Given the description of an element on the screen output the (x, y) to click on. 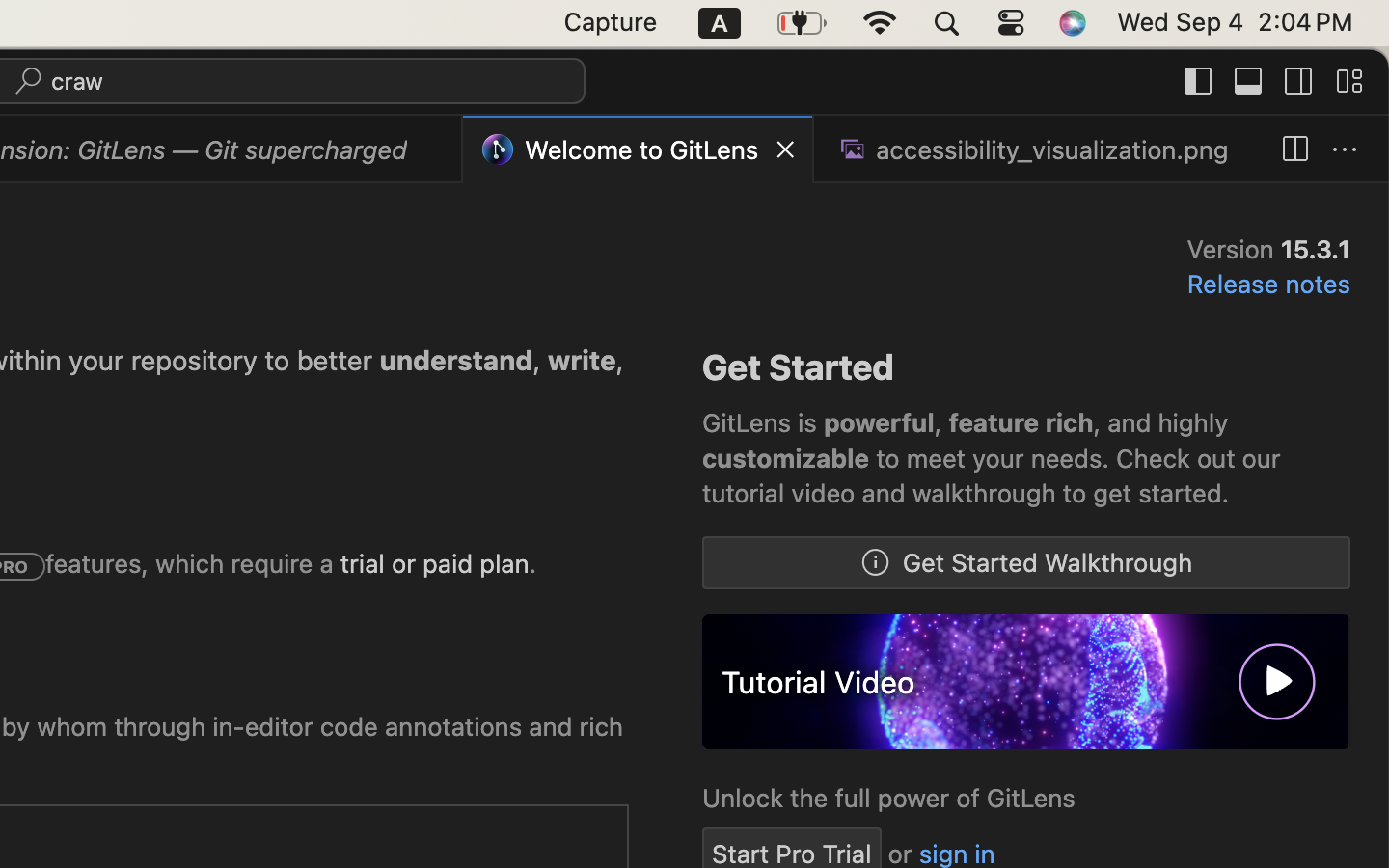
 Element type: AXCheckBox (1198, 80)
 Element type: AXCheckBox (1248, 80)
feature rich Element type: AXStaticText (1021, 422)
trial or paid plan Element type: AXStaticText (434, 563)
powerful Element type: AXStaticText (879, 422)
